Given the description of an element on the screen output the (x, y) to click on. 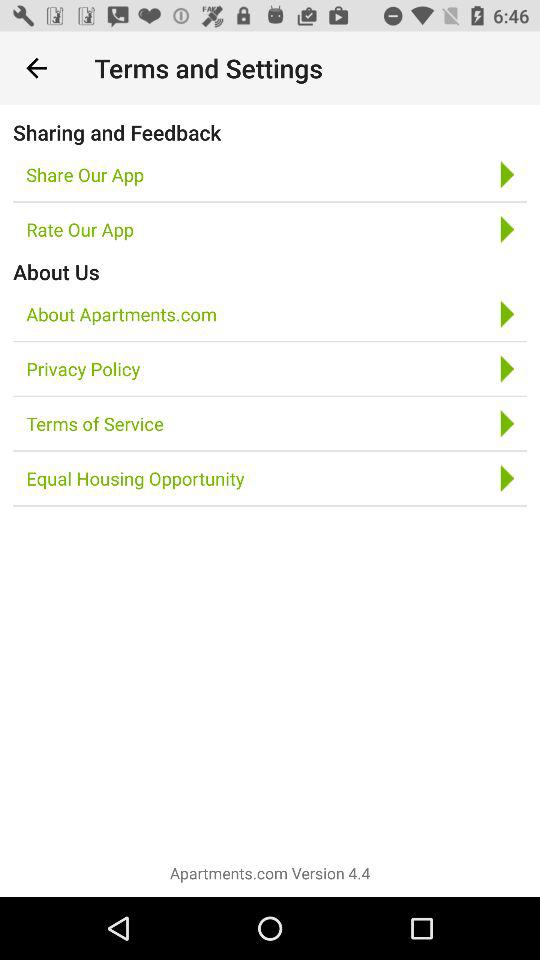
jump to the terms of service (94, 423)
